Given the description of an element on the screen output the (x, y) to click on. 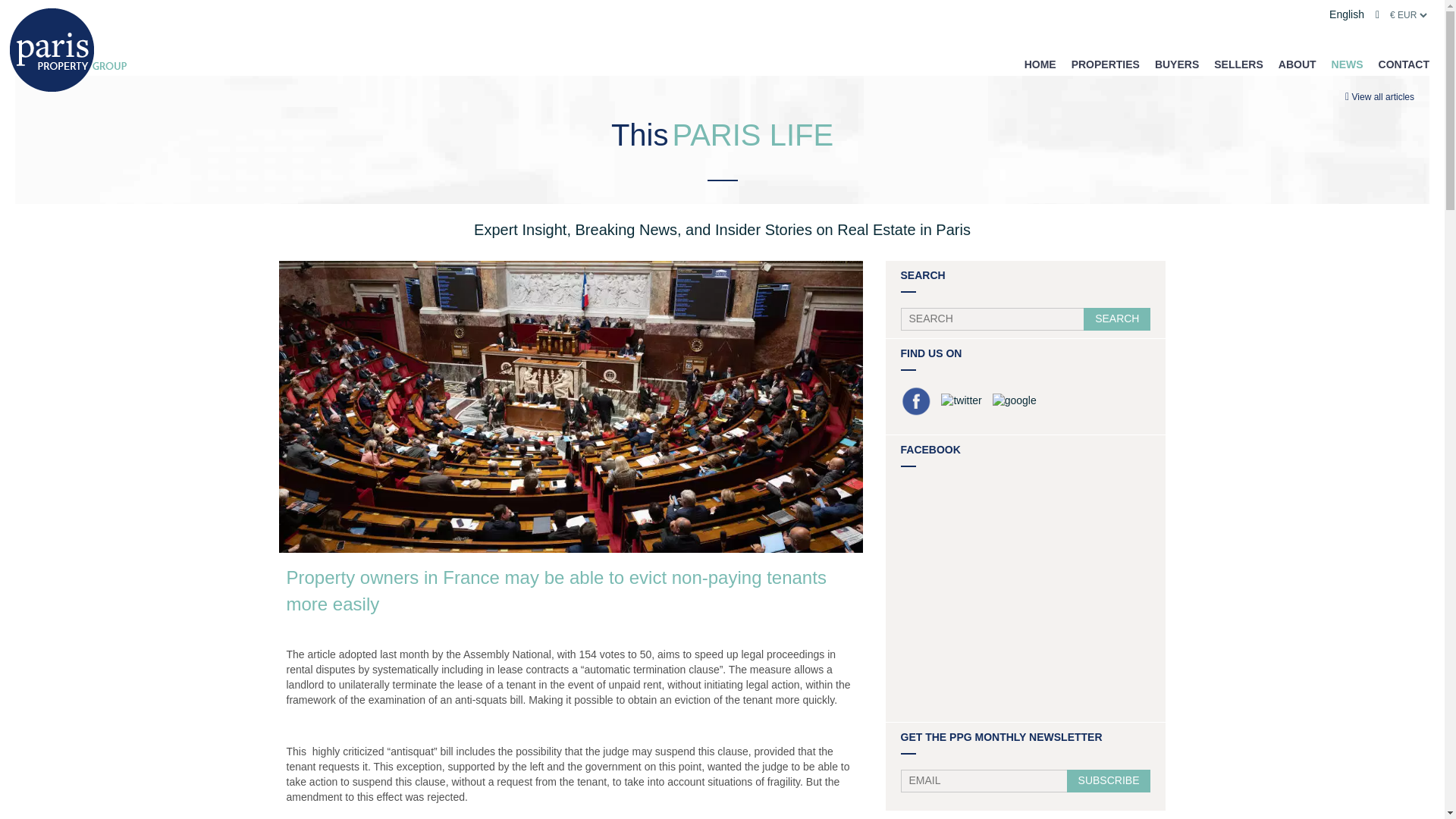
PROPERTIES (1105, 64)
HOME (1041, 64)
BUYERS (1176, 64)
View all articles (1382, 96)
SELLERS (1238, 64)
NEWS (1347, 64)
ABOUT (1297, 64)
